Given the description of an element on the screen output the (x, y) to click on. 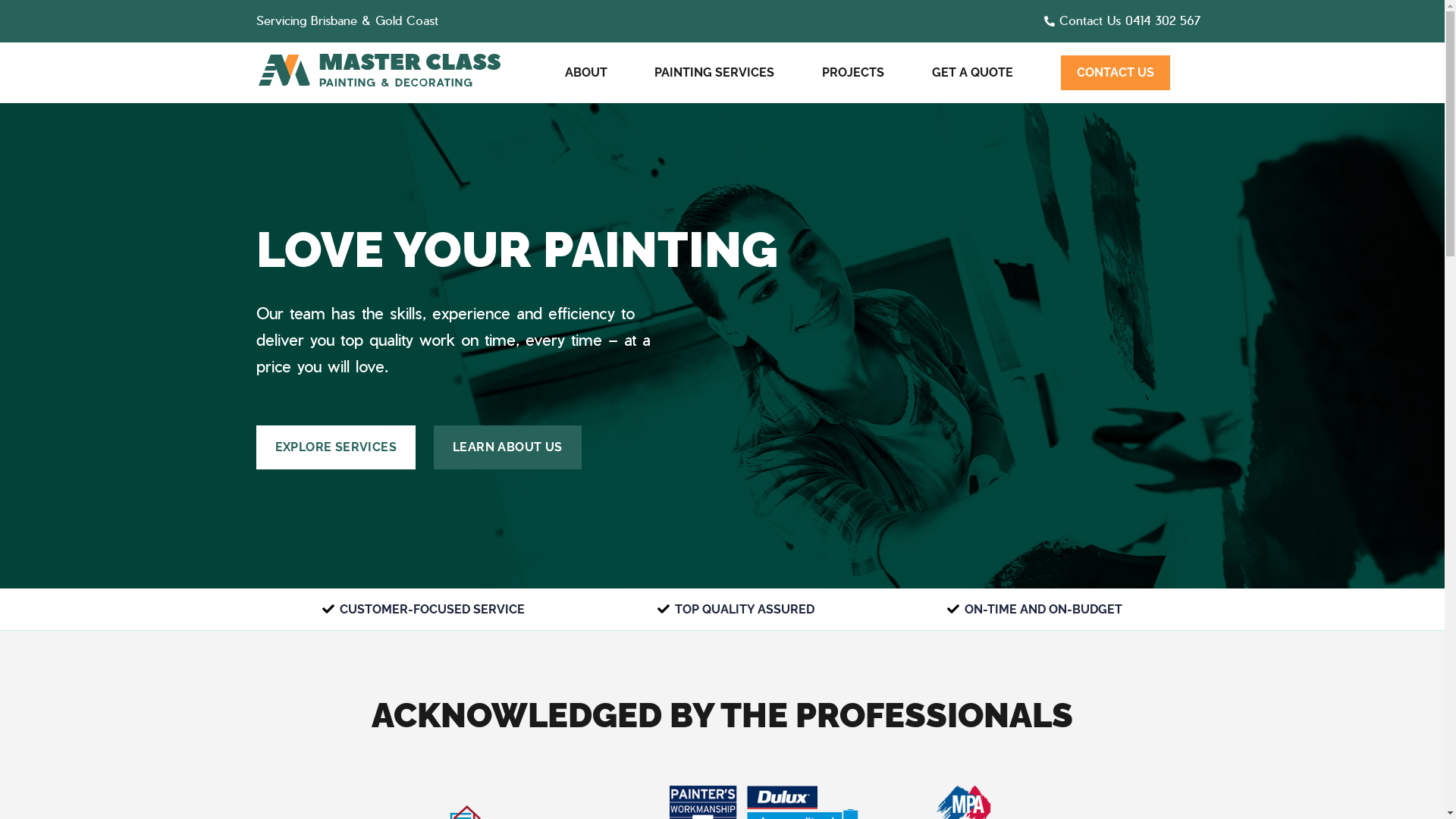
LEARN ABOUT US Element type: text (507, 447)
CONTACT US Element type: text (1115, 72)
PROJECTS Element type: text (853, 72)
PAINTING SERVICES Element type: text (714, 72)
EXPLORE SERVICES Element type: text (335, 447)
GET A QUOTE Element type: text (972, 72)
Contact Us 0414 302 567 Element type: text (1121, 20)
ABOUT Element type: text (585, 72)
